Given the description of an element on the screen output the (x, y) to click on. 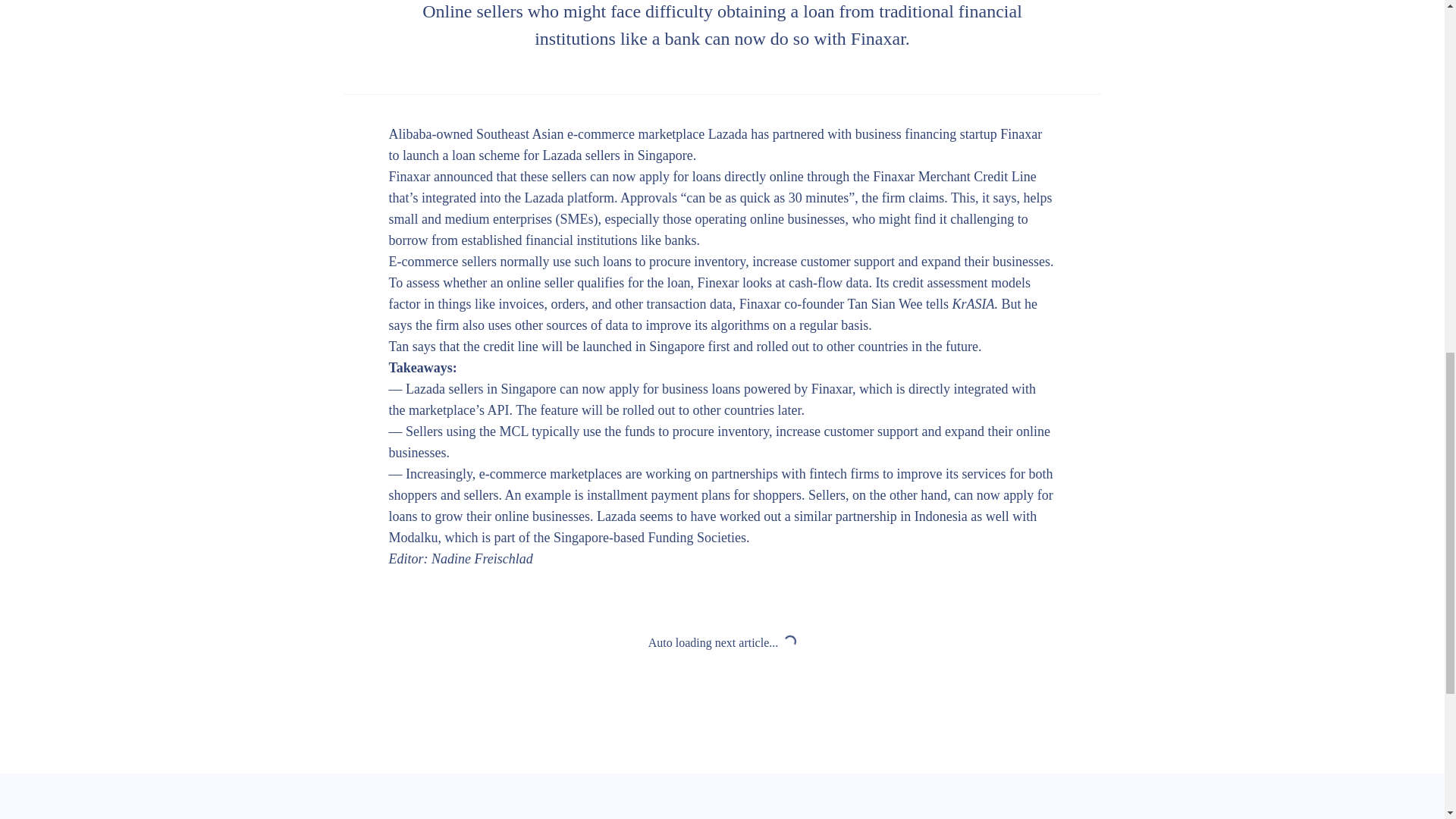
Lazada (727, 133)
Finaxar (1021, 133)
Modalku (413, 537)
